Given the description of an element on the screen output the (x, y) to click on. 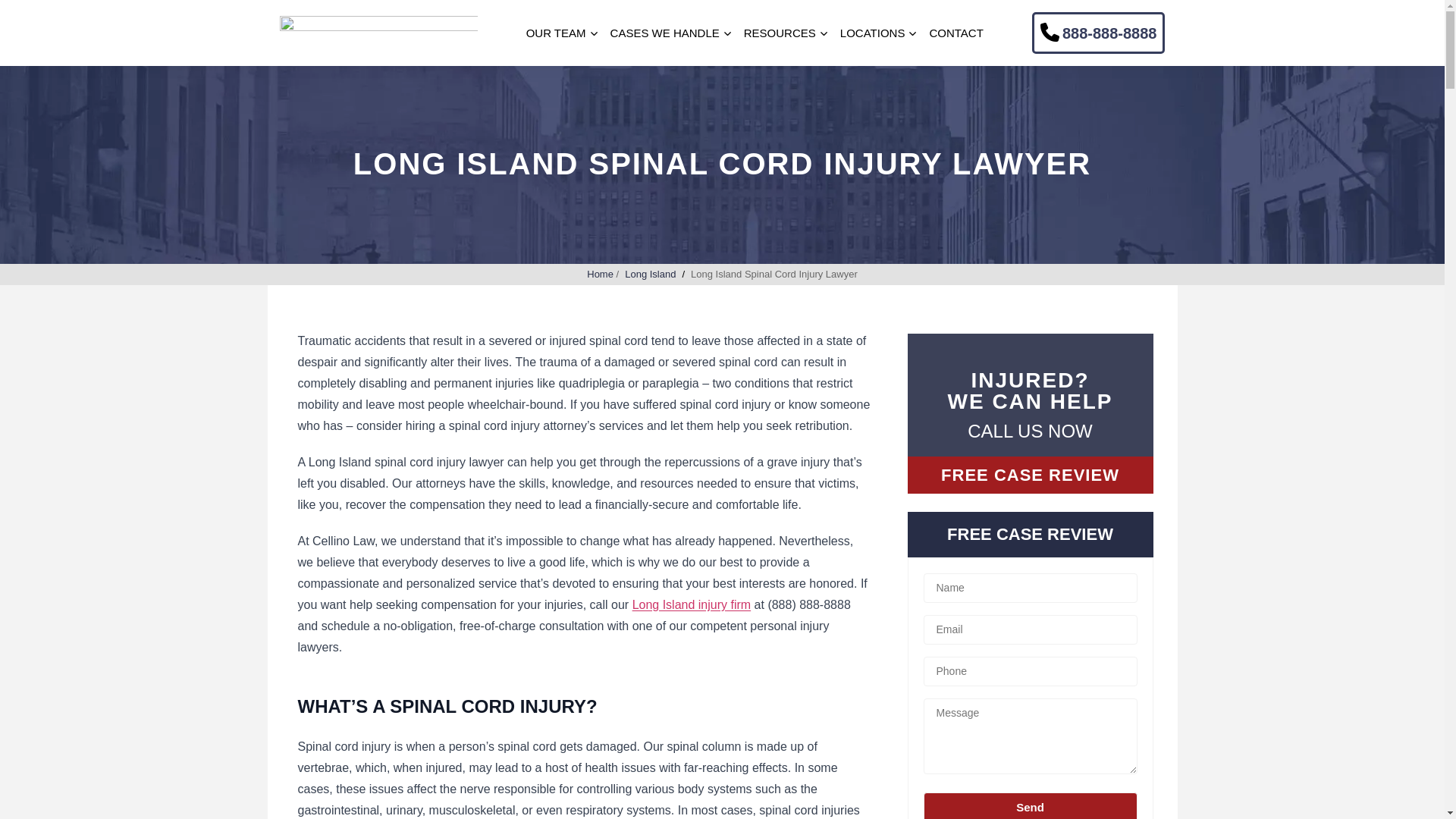
CASES WE HANDLE (664, 33)
RESOURCES (779, 33)
Send (1030, 805)
OUR TEAM (555, 33)
